Given the description of an element on the screen output the (x, y) to click on. 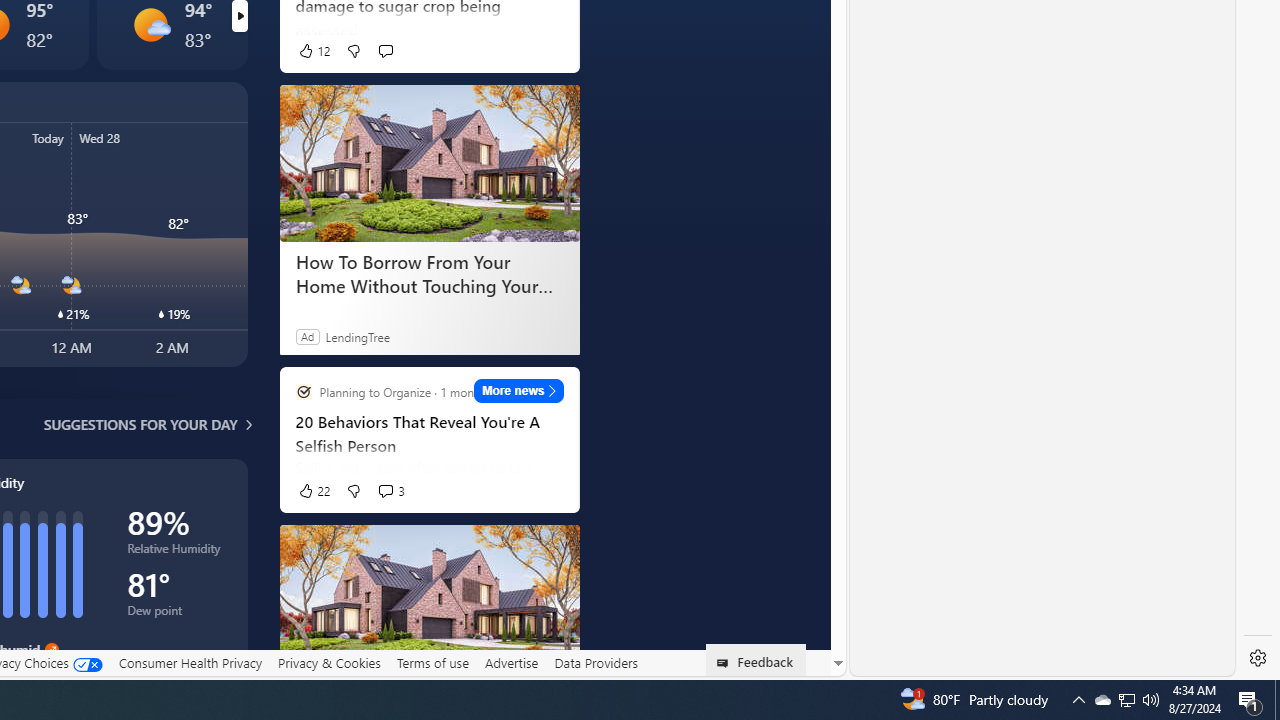
Privacy & Cookies (329, 663)
How To Borrow From Your Home Without Touching Your Mortgage (429, 602)
Mostly sunny (150, 24)
Data Providers (595, 662)
LendingTree (357, 336)
Terms of use (431, 663)
Relative Humidity (176, 552)
More news (518, 390)
Privacy & Cookies (329, 662)
Class: feedback_link_icon-DS-EntryPoint1-1 (726, 663)
How To Borrow From Your Home Without Touching Your Mortgage (429, 273)
Advertise (510, 662)
Feedback (756, 659)
Terms of use (431, 662)
